Given the description of an element on the screen output the (x, y) to click on. 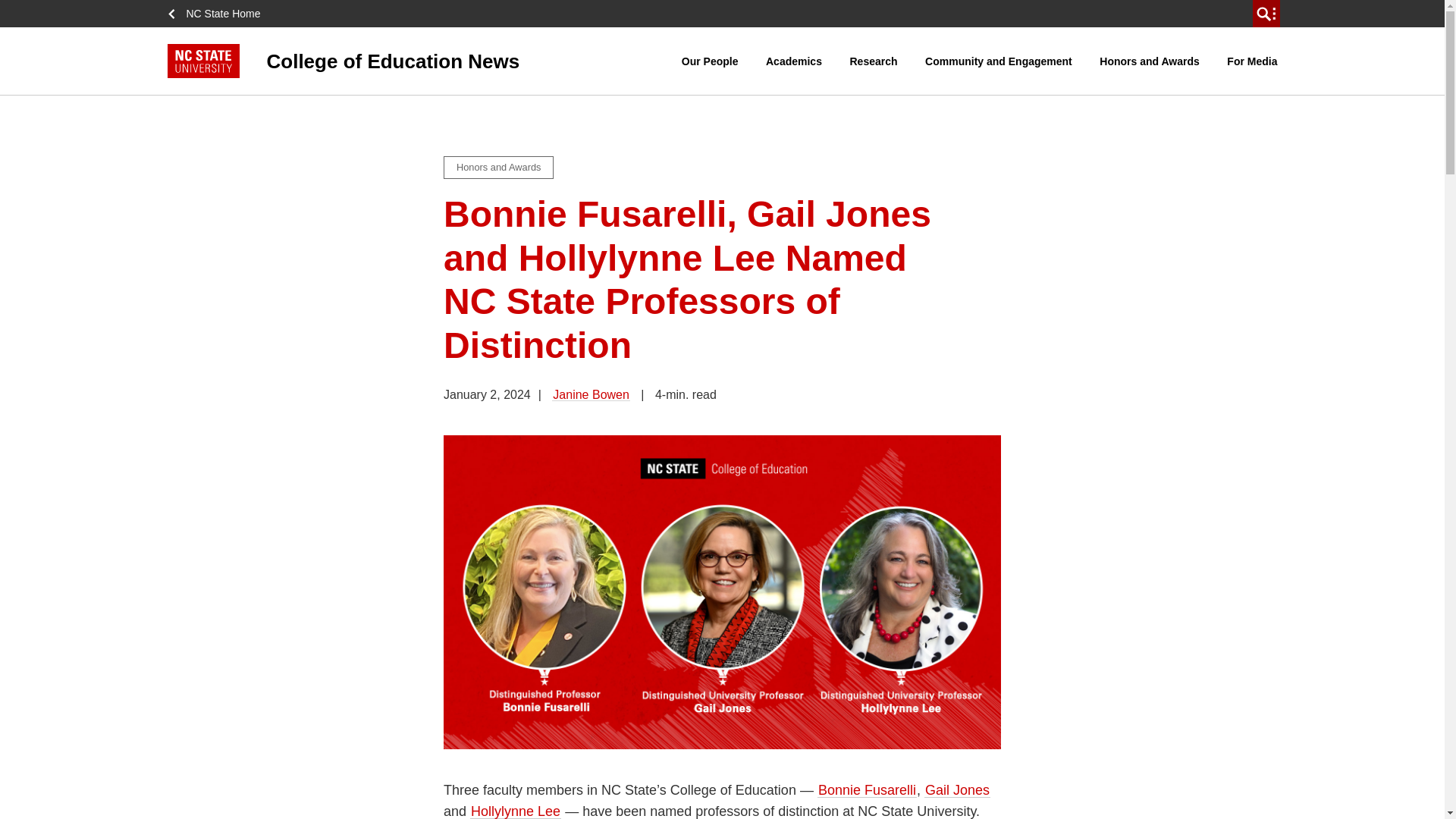
Our People (710, 61)
College of Education News (424, 61)
Janine Bowen (590, 394)
Honors and Awards (1149, 61)
For Media (1252, 61)
Honors and Awards (498, 167)
Research (873, 61)
Posts by Janine Bowen (590, 394)
Community and Engagement (998, 61)
NC State Home (217, 13)
Academics (793, 61)
